Given the description of an element on the screen output the (x, y) to click on. 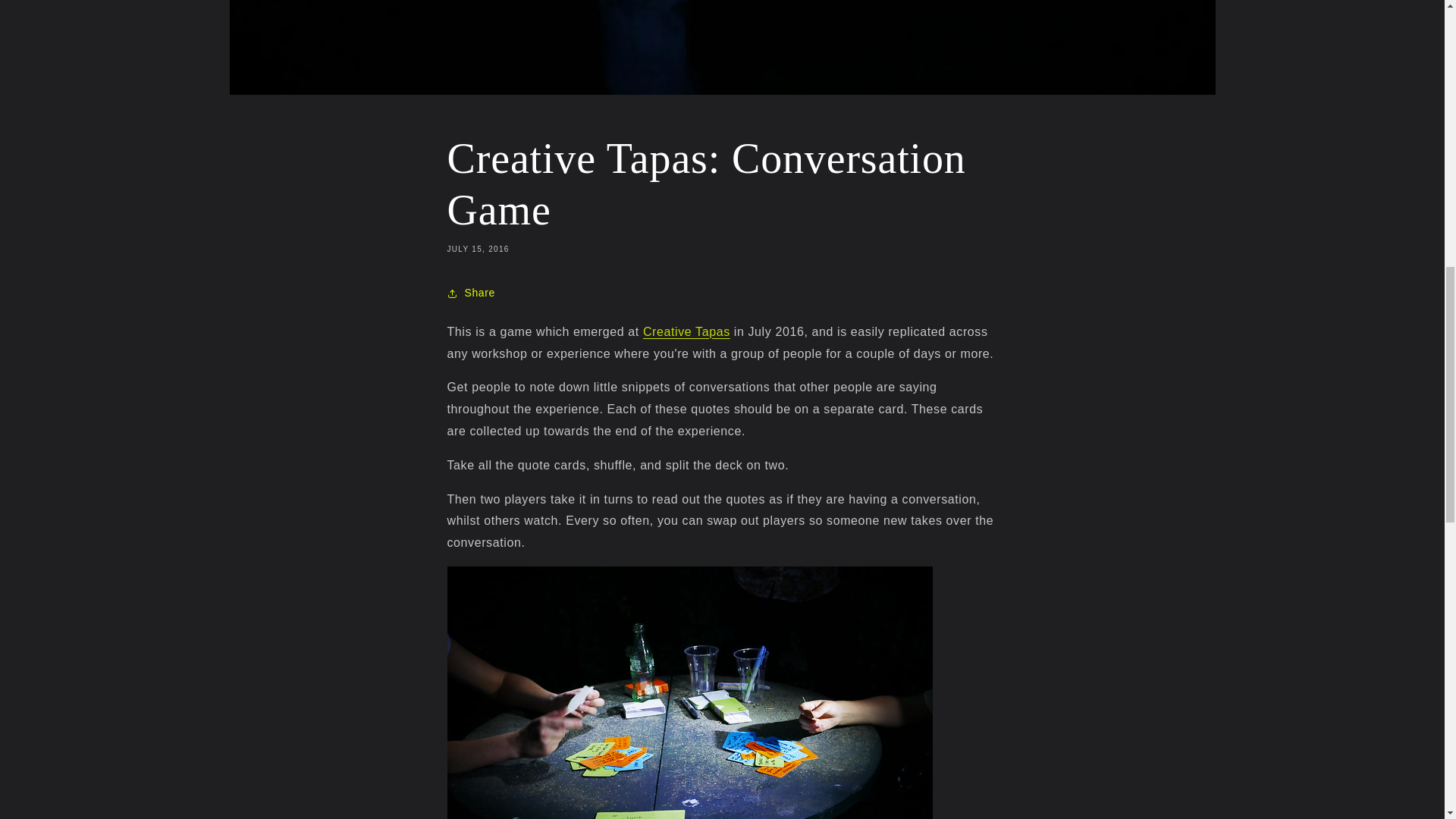
Creative Tapas (686, 331)
